Given the description of an element on the screen output the (x, y) to click on. 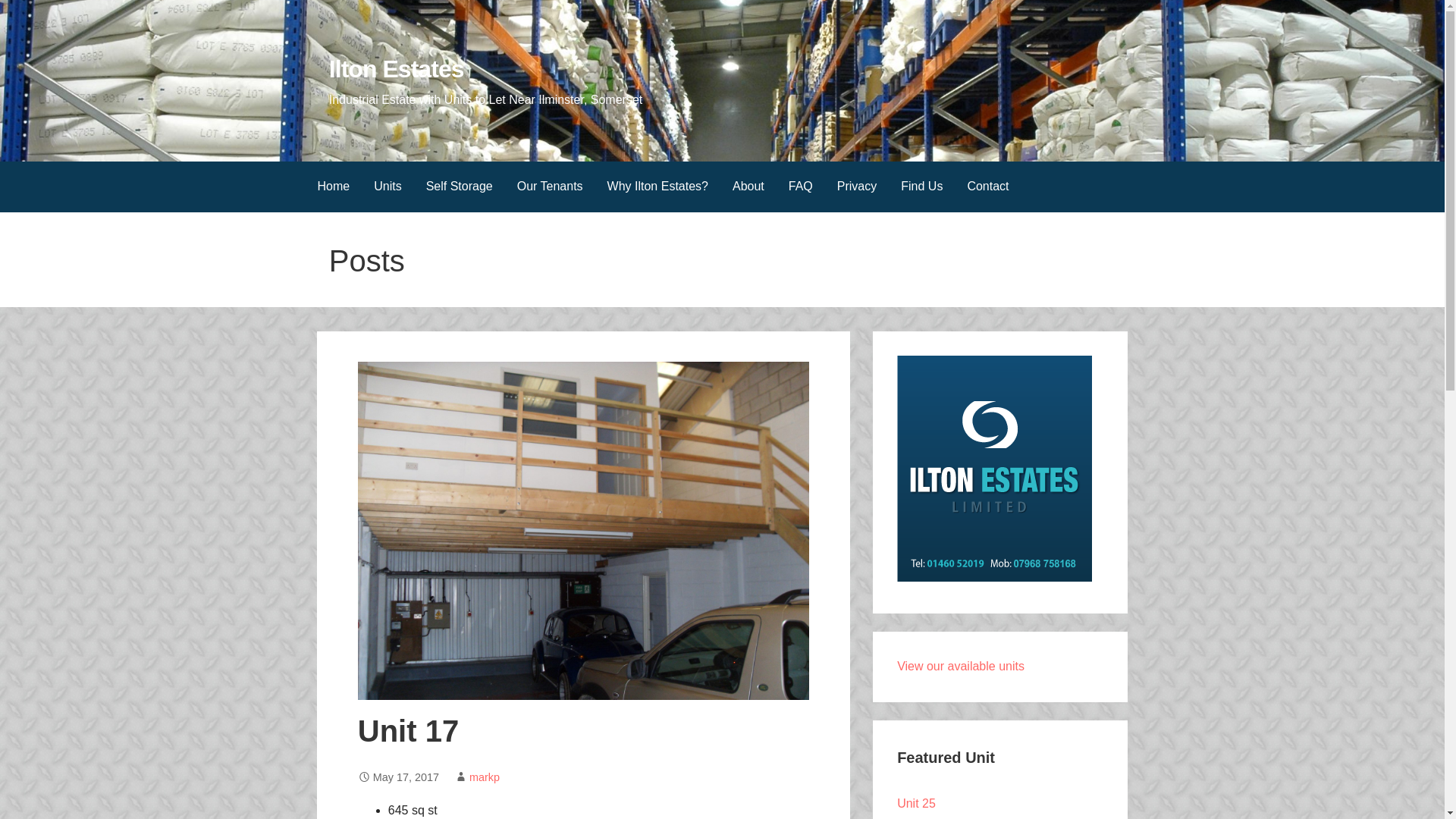
Posts by markp (483, 776)
Ilton Estates (396, 68)
Units (387, 186)
Contact (987, 186)
Home (332, 186)
Find Us (921, 186)
FAQ (800, 186)
Self Storage (459, 186)
Privacy (856, 186)
Unit 25 (916, 802)
markp (483, 776)
Our Tenants (550, 186)
About (748, 186)
View our available units (960, 666)
Why Ilton Estates? (657, 186)
